Given the description of an element on the screen output the (x, y) to click on. 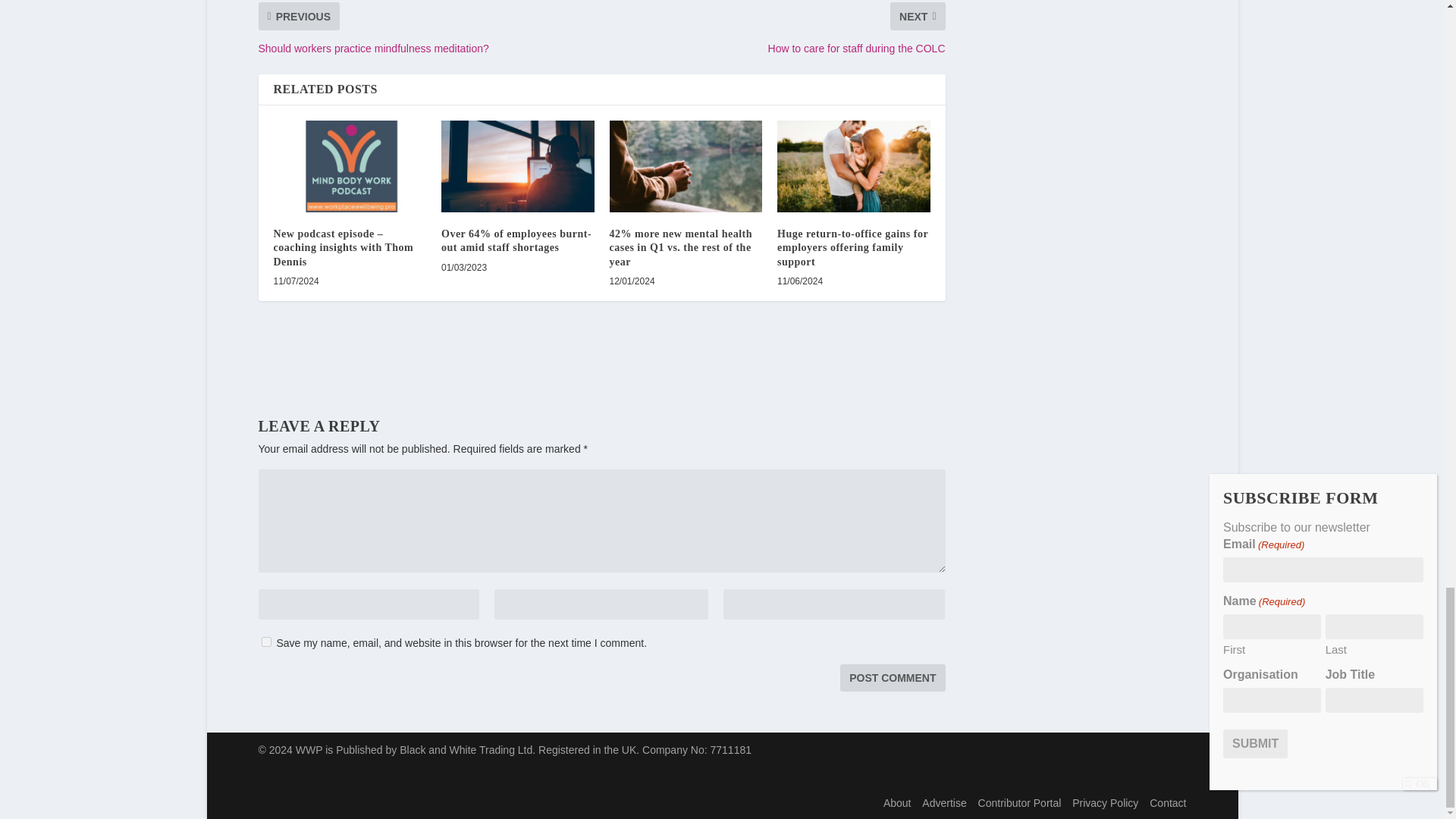
yes (265, 642)
Post Comment (892, 677)
